Given the description of an element on the screen output the (x, y) to click on. 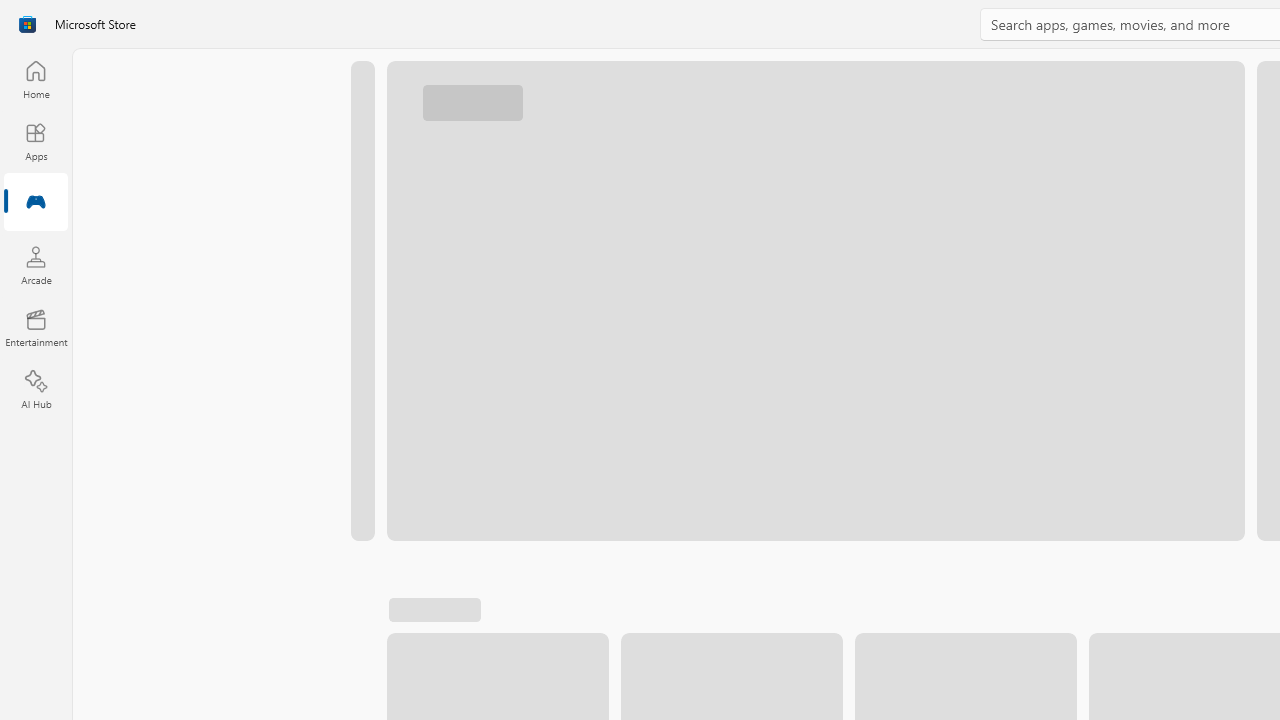
See all  Best selling games (493, 674)
Action & Adventure (480, 619)
Home (35, 79)
Gaming (35, 203)
Game Pass (1033, 619)
Entertainment (35, 327)
Page 2 (1274, 562)
Shooter (767, 619)
AI Hub (35, 390)
Class: Image (1132, 617)
Simulation (643, 619)
Role-playing (1174, 619)
Arcade (35, 265)
AutomationID: Image (815, 300)
